Given the description of an element on the screen output the (x, y) to click on. 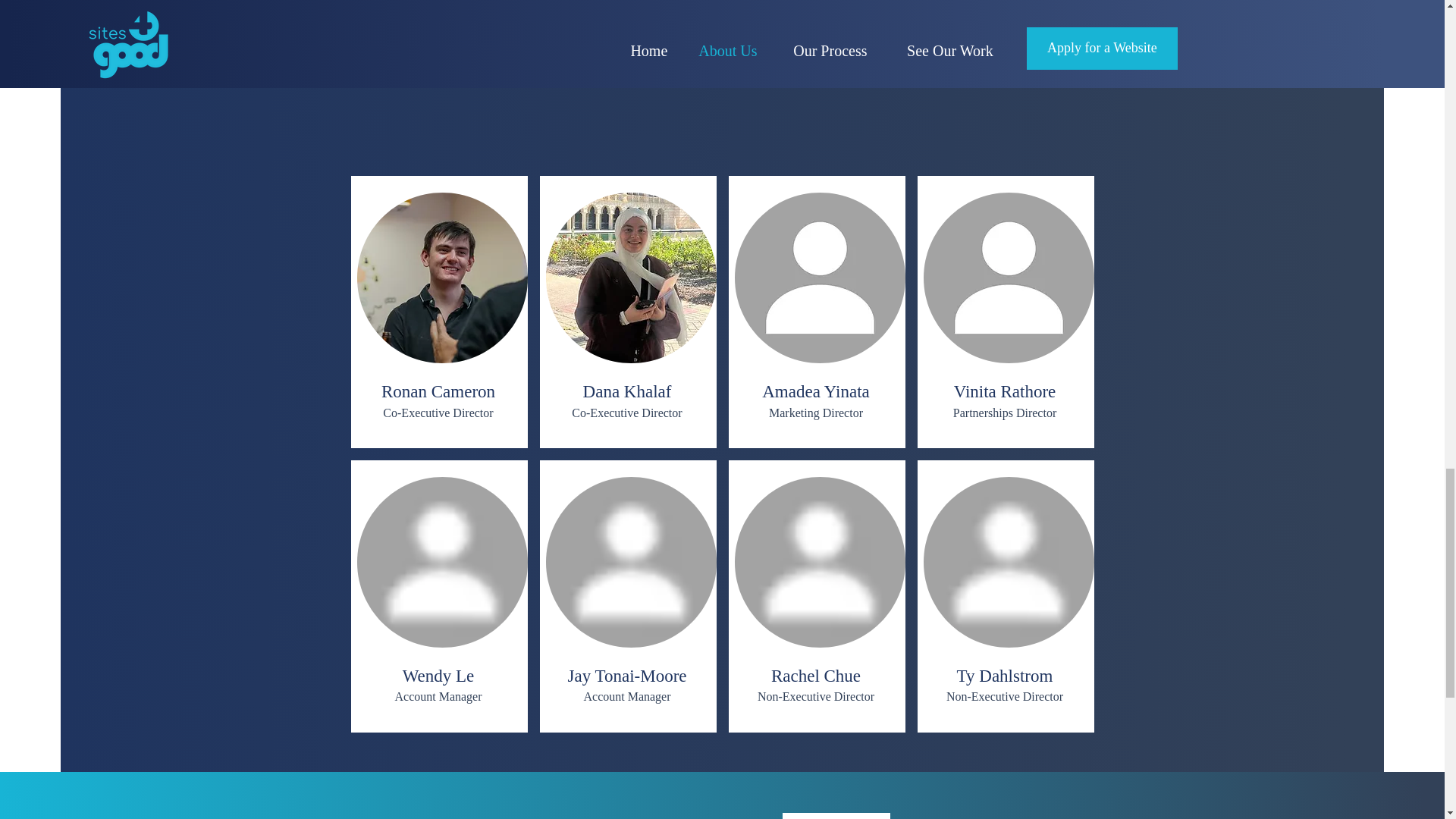
Co-Executive Director (437, 412)
Co-Executive Director (626, 412)
Vinita Rathore (1005, 391)
Learn More (836, 816)
Partnerships Director (1005, 412)
Dana Khalaf (627, 391)
Ronan Cameron (438, 391)
Amadea Yinata (815, 391)
Marketing Director (815, 412)
